Given the description of an element on the screen output the (x, y) to click on. 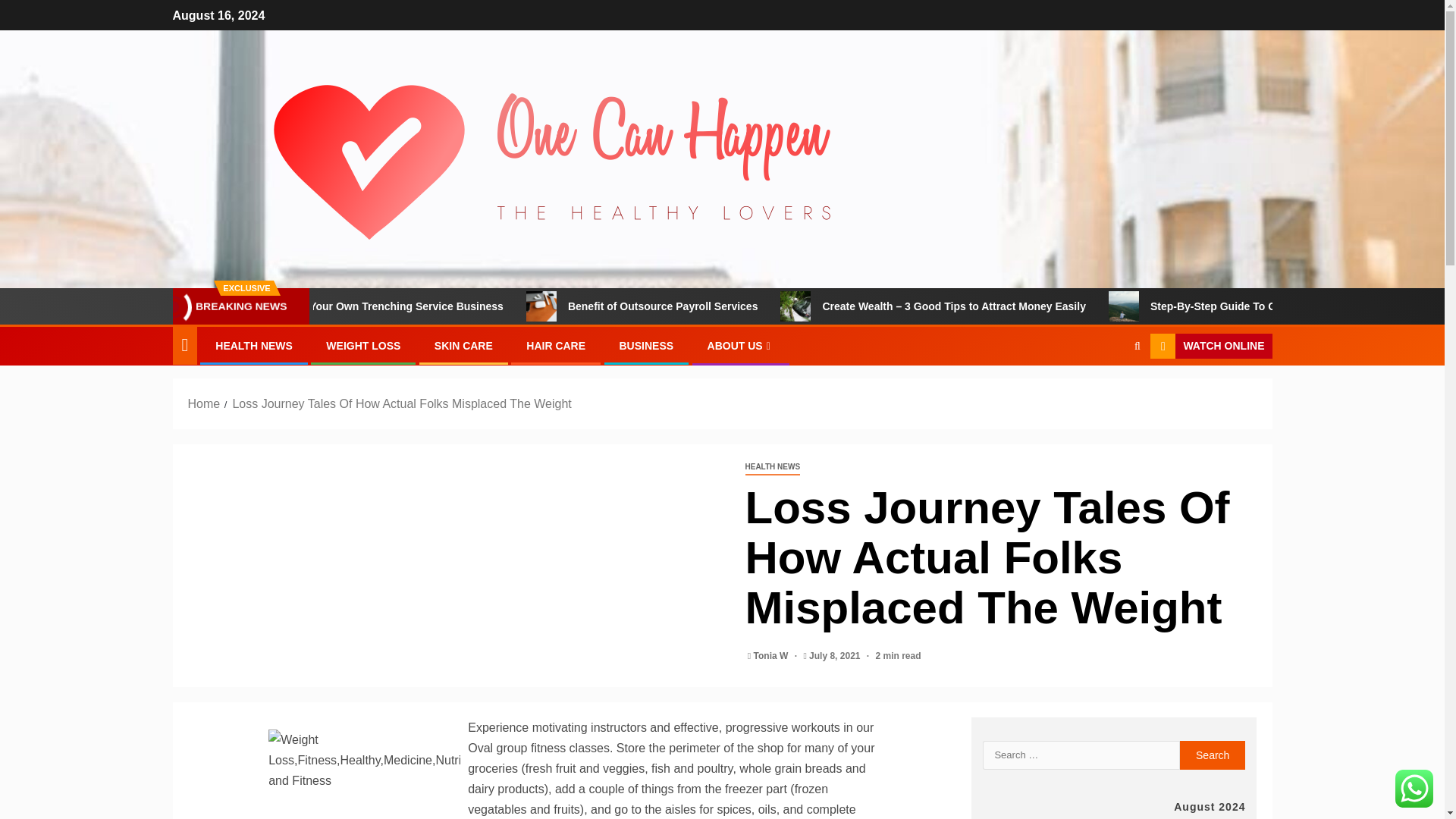
Search (1212, 755)
Benefit of Outsource Payroll Services (611, 306)
Home (204, 403)
Loss Journey Tales Of How Actual Folks Misplaced The Weight (400, 403)
Step-By-Step Guide To Obtaining A New VA Home Loan (1191, 306)
BUSINESS (645, 345)
How to Start Your Own Trenching Service Business (470, 306)
WATCH ONLINE (1210, 346)
HEALTH NEWS (253, 345)
ABOUT US (740, 345)
